Given the description of an element on the screen output the (x, y) to click on. 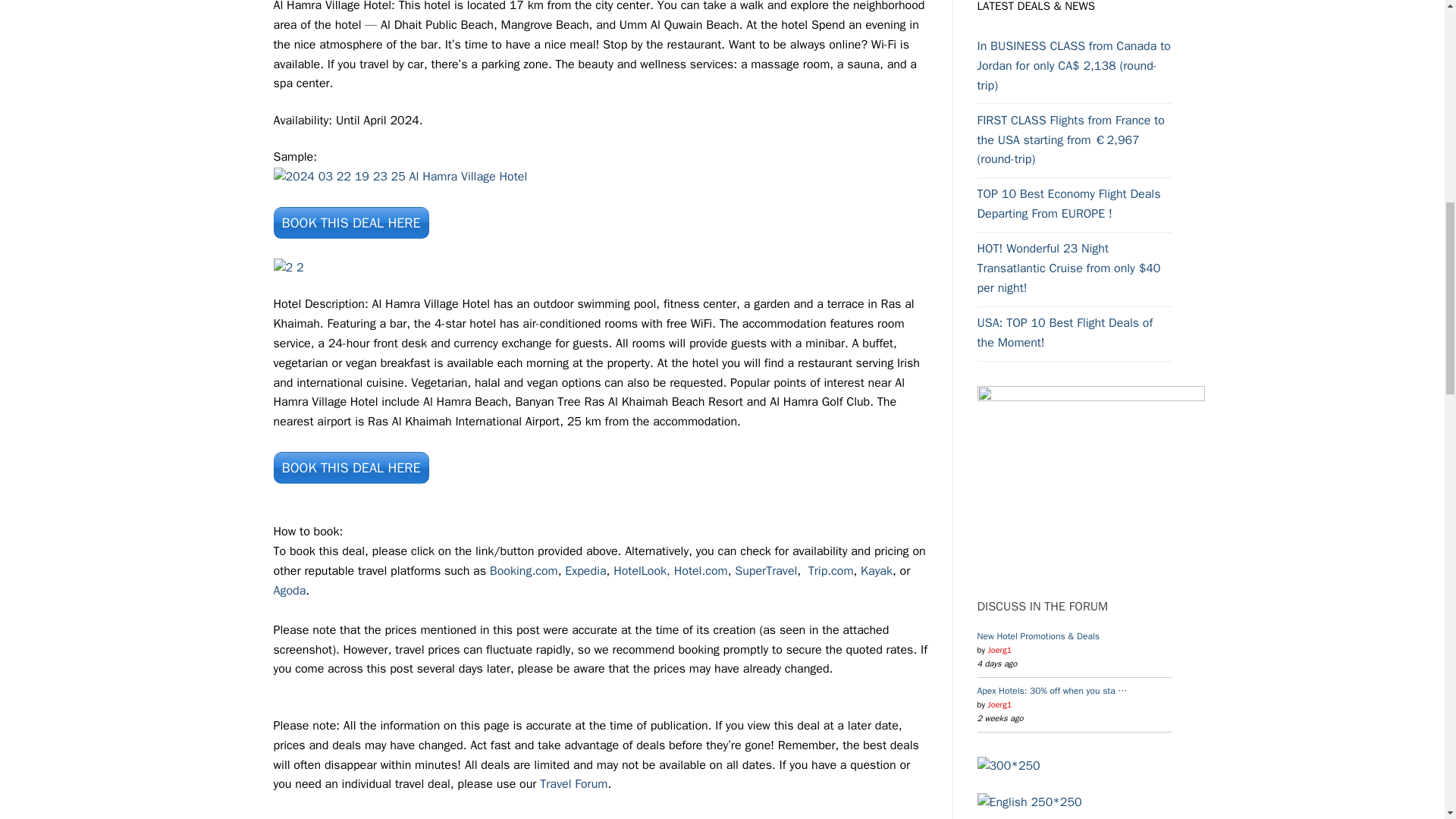
Kayak (876, 570)
